Given the description of an element on the screen output the (x, y) to click on. 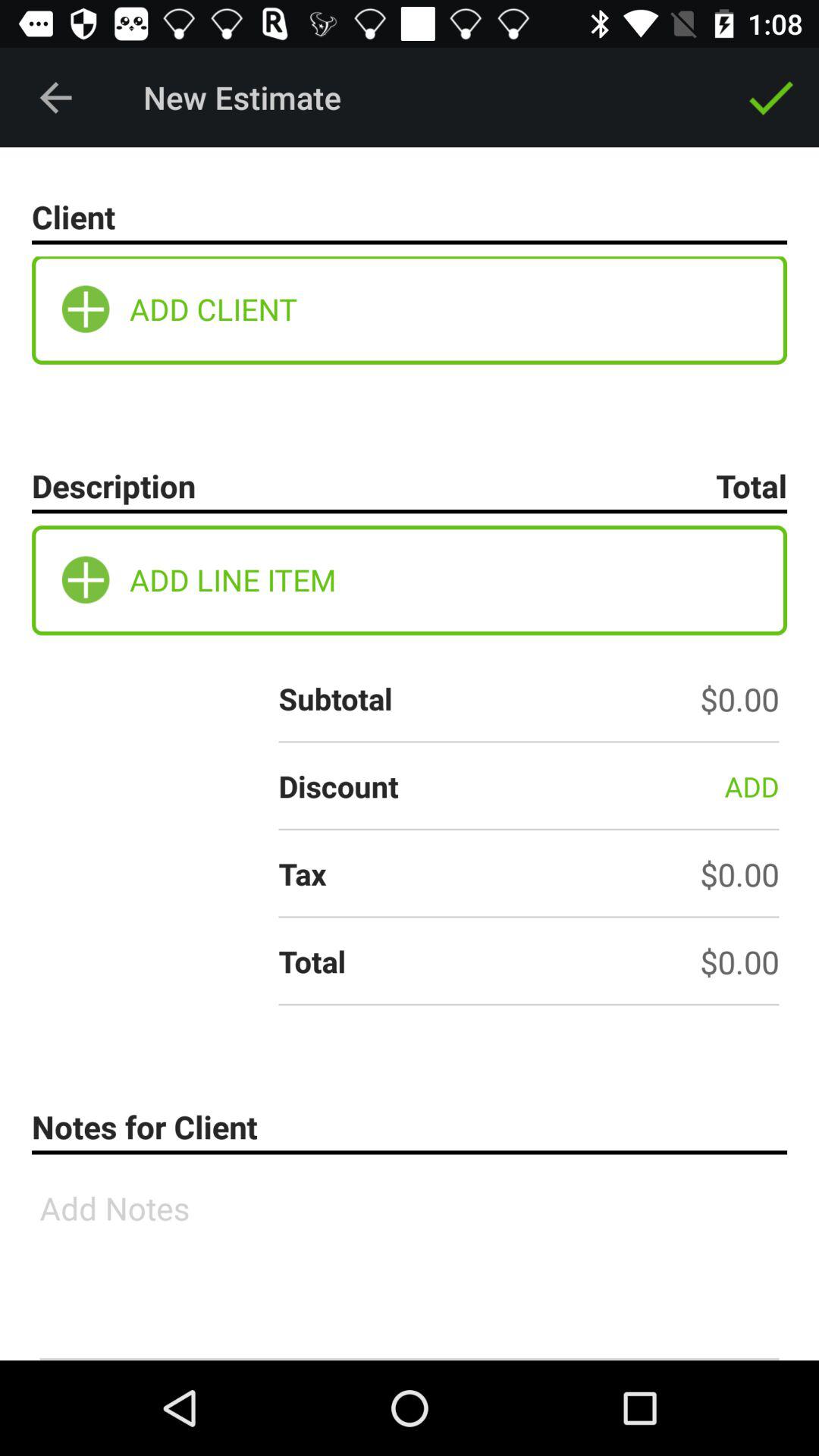
choose  under client (85, 309)
click on icon which is below description (85, 580)
